Given the description of an element on the screen output the (x, y) to click on. 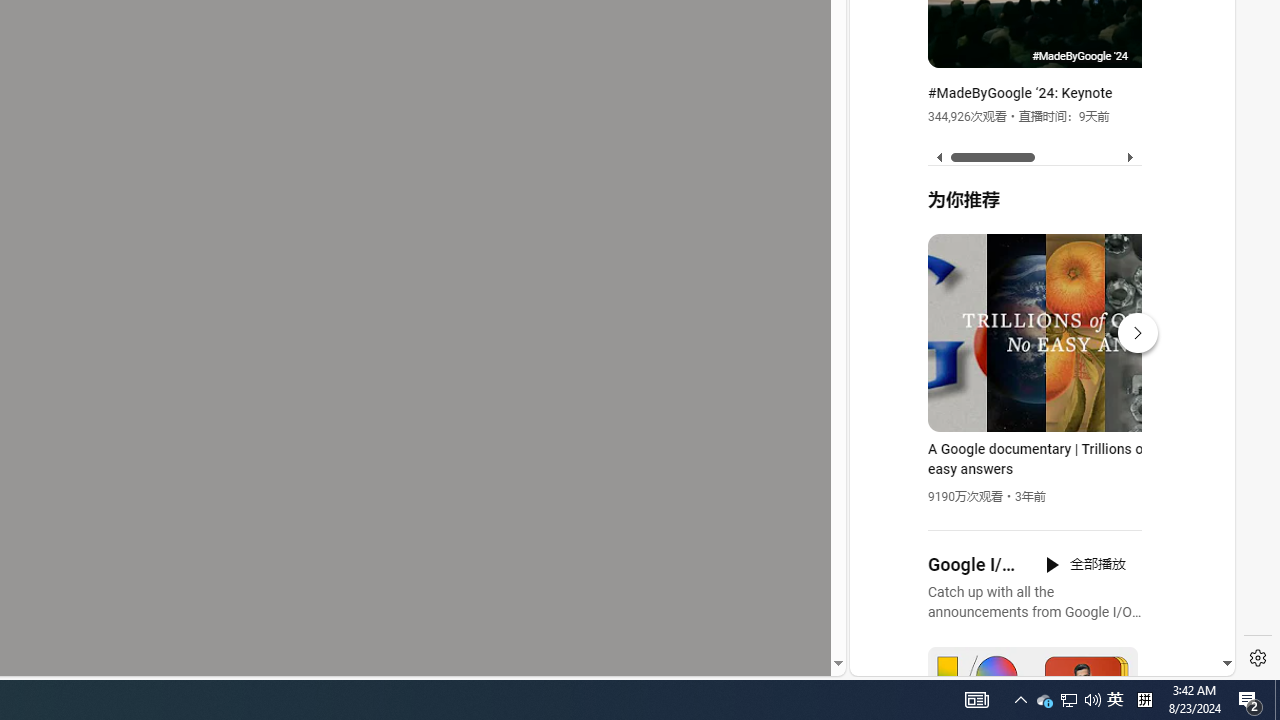
US[ju] (917, 660)
Click to scroll right (1196, 83)
Google I/O 2024 (974, 565)
Class: dict_pnIcon rms_img (1028, 660)
